Given the description of an element on the screen output the (x, y) to click on. 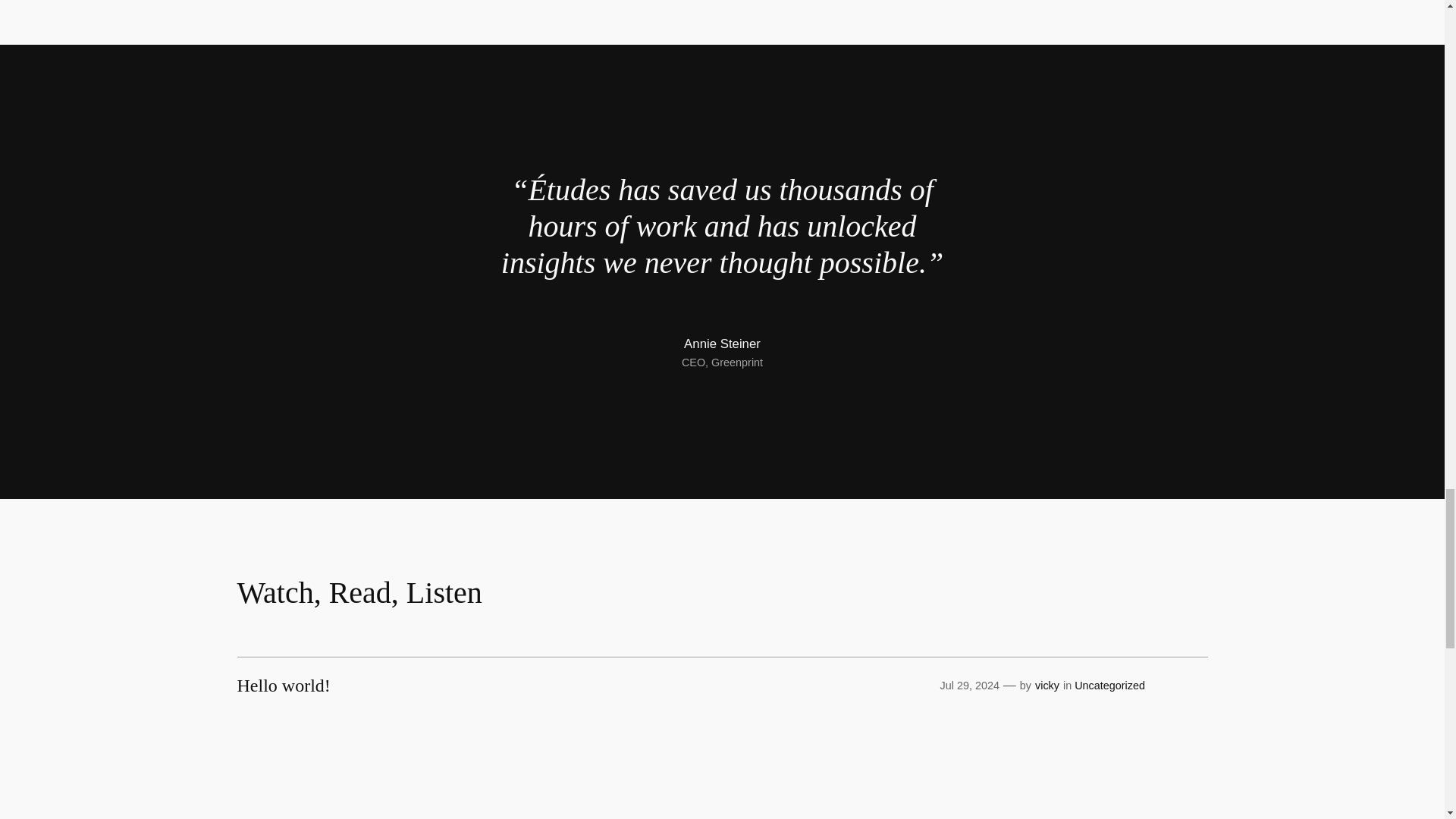
Uncategorized (1109, 685)
Jul 29, 2024 (968, 685)
Hello world! (282, 685)
vicky (1047, 685)
